Given the description of an element on the screen output the (x, y) to click on. 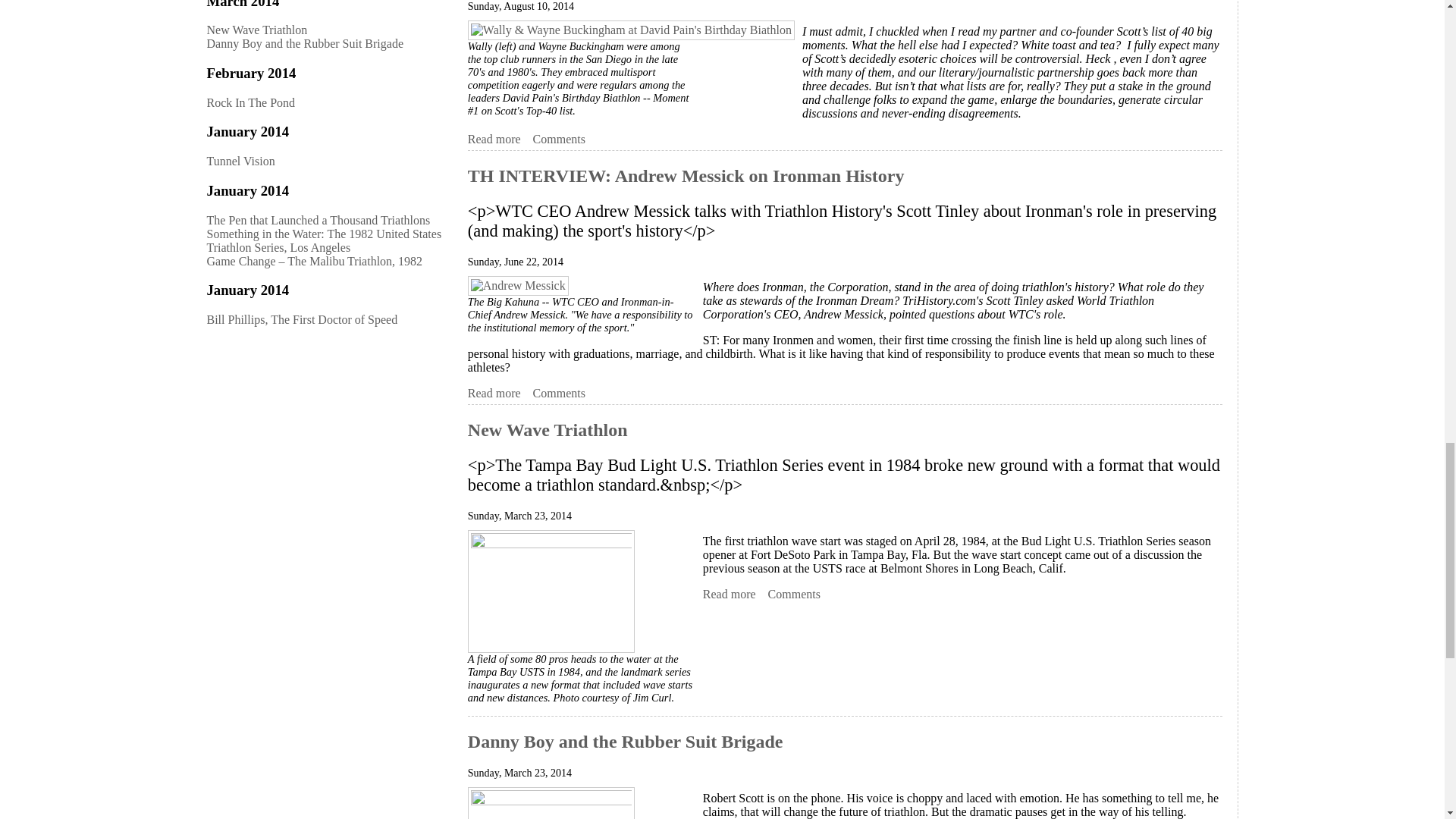
A Straight 40 To Go  (494, 139)
WTC CEO Andrew Messick (518, 285)
TH INTERVIEW: Andrew Messick on Ironman History  (494, 393)
